Given the description of an element on the screen output the (x, y) to click on. 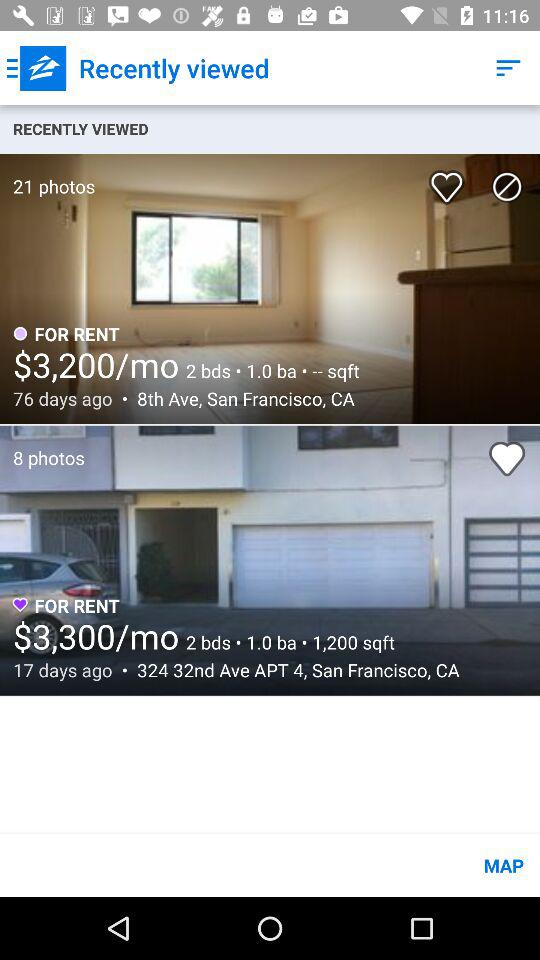
open the 21 photos (47, 176)
